Given the description of an element on the screen output the (x, y) to click on. 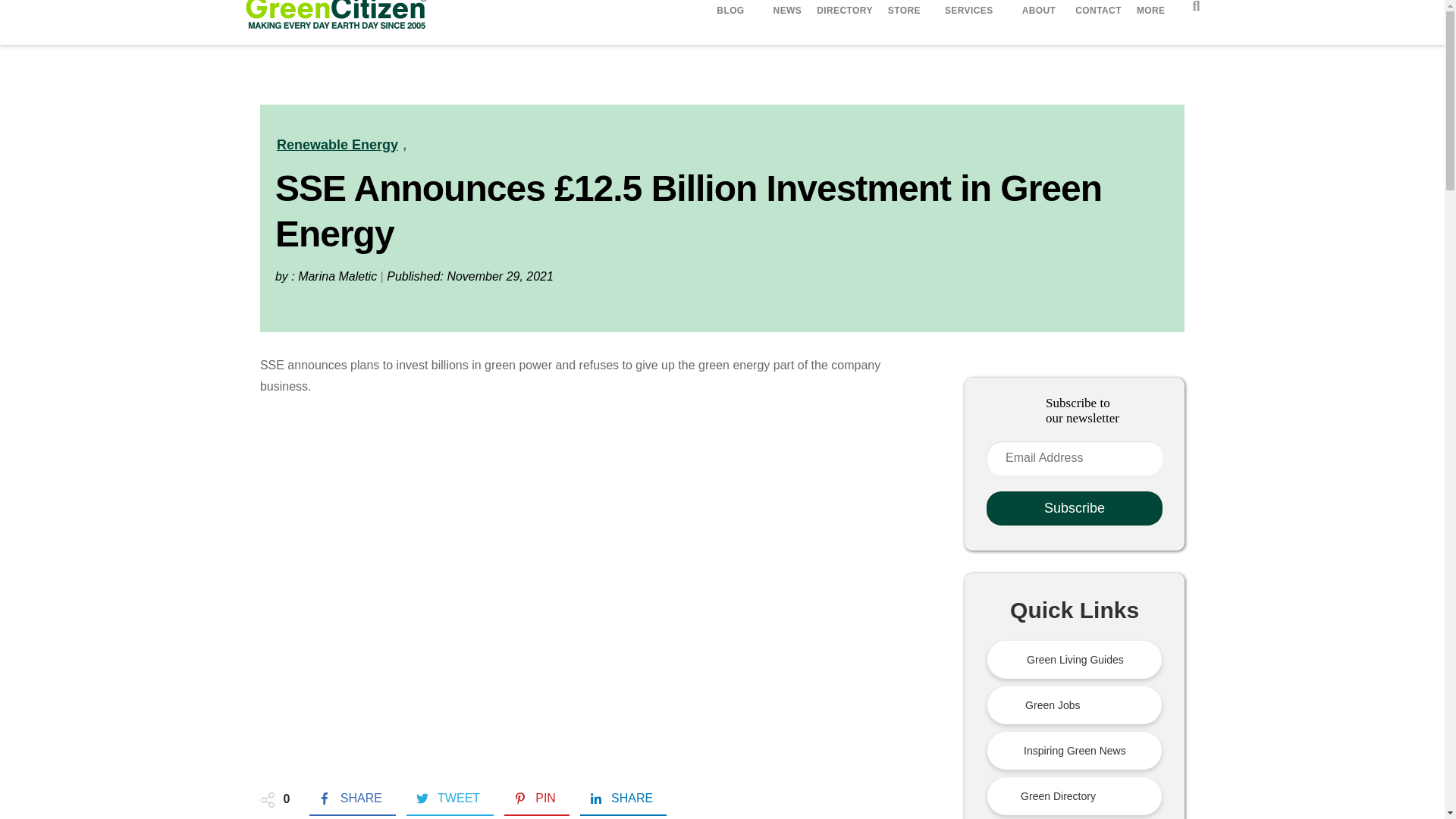
SERVICES (971, 10)
Subscribe (1074, 508)
CONTACT (1098, 12)
BLOG (732, 10)
DIRECTORY (844, 12)
STORE (904, 12)
ABOUT (1041, 12)
NEWS (787, 12)
MORE (1153, 12)
